Given the description of an element on the screen output the (x, y) to click on. 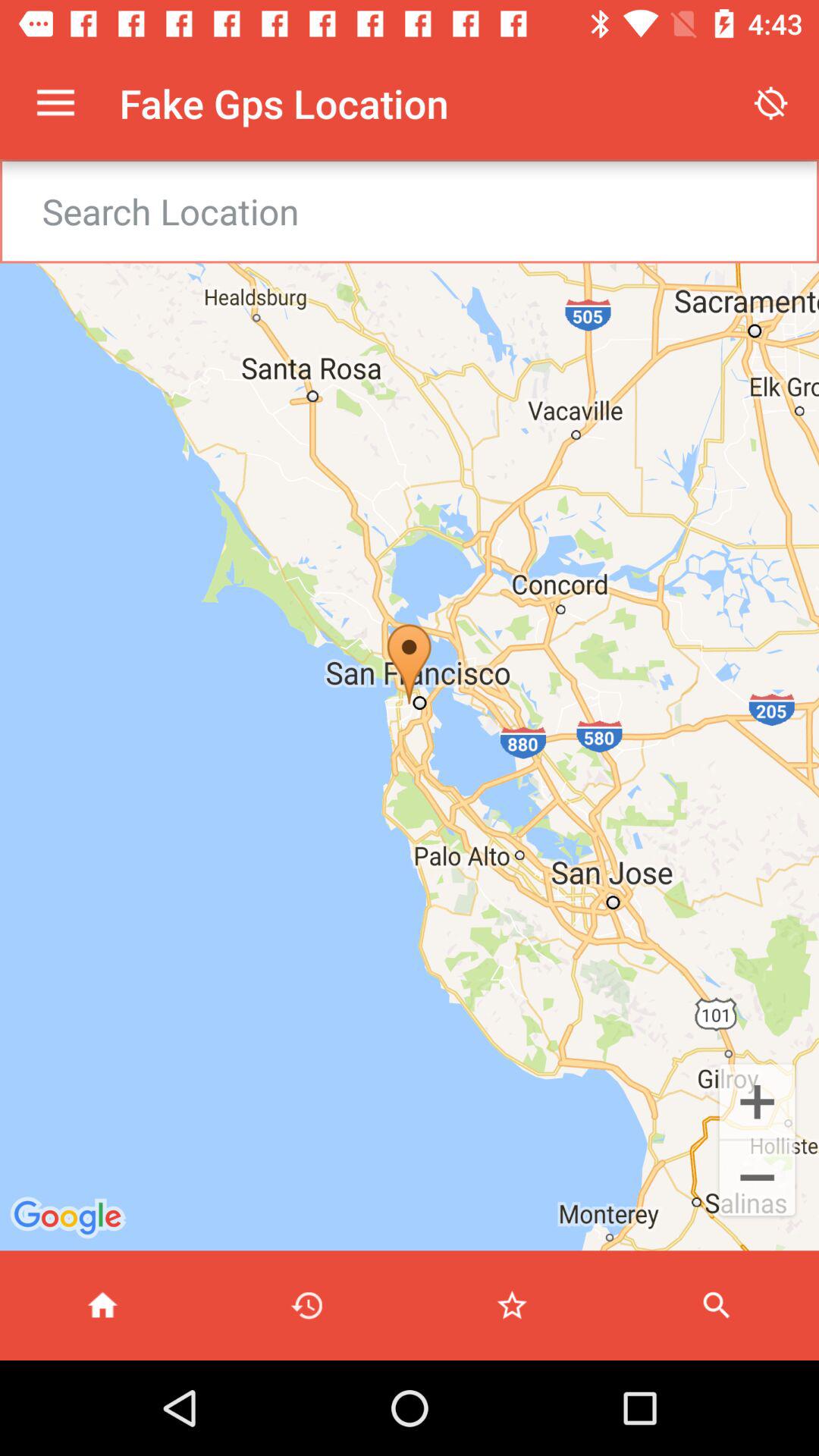
press app to the right of the fake gps location item (771, 103)
